Given the description of an element on the screen output the (x, y) to click on. 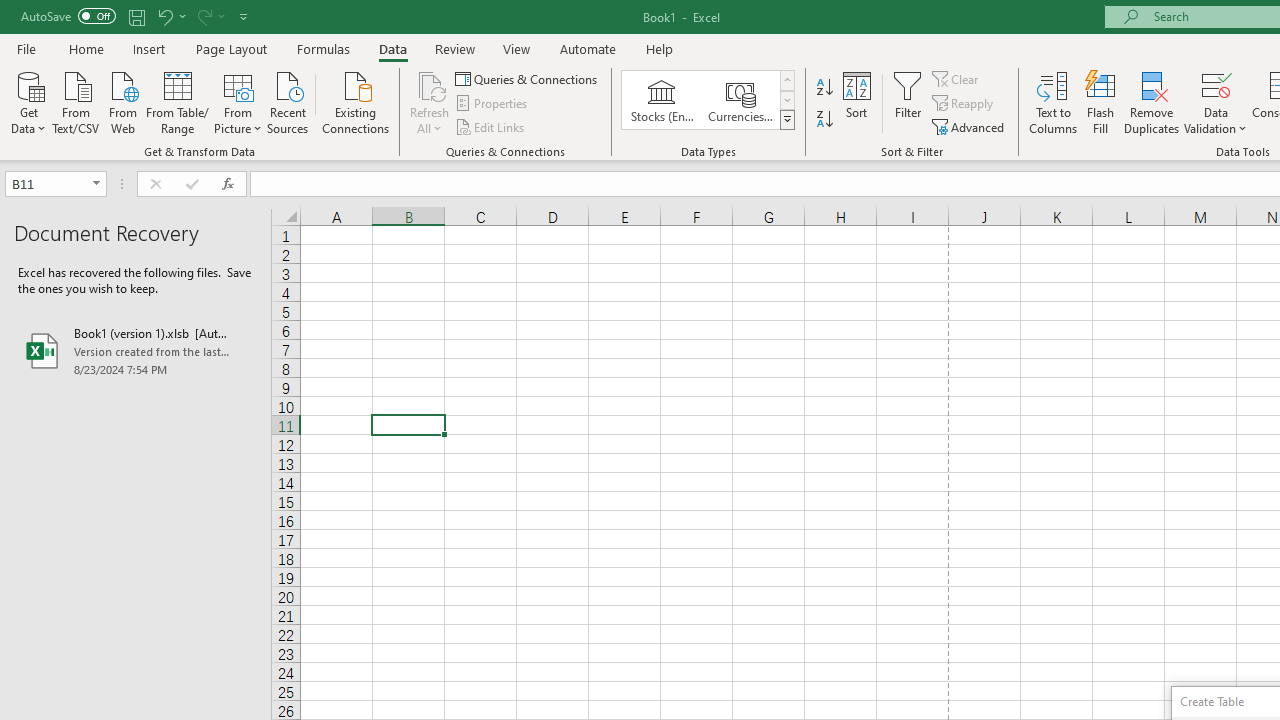
From Table/Range (177, 101)
From Web (122, 101)
From Text/CSV (75, 101)
Text to Columns... (1053, 102)
Remove Duplicates (1151, 102)
Existing Connections (355, 101)
